Given the description of an element on the screen output the (x, y) to click on. 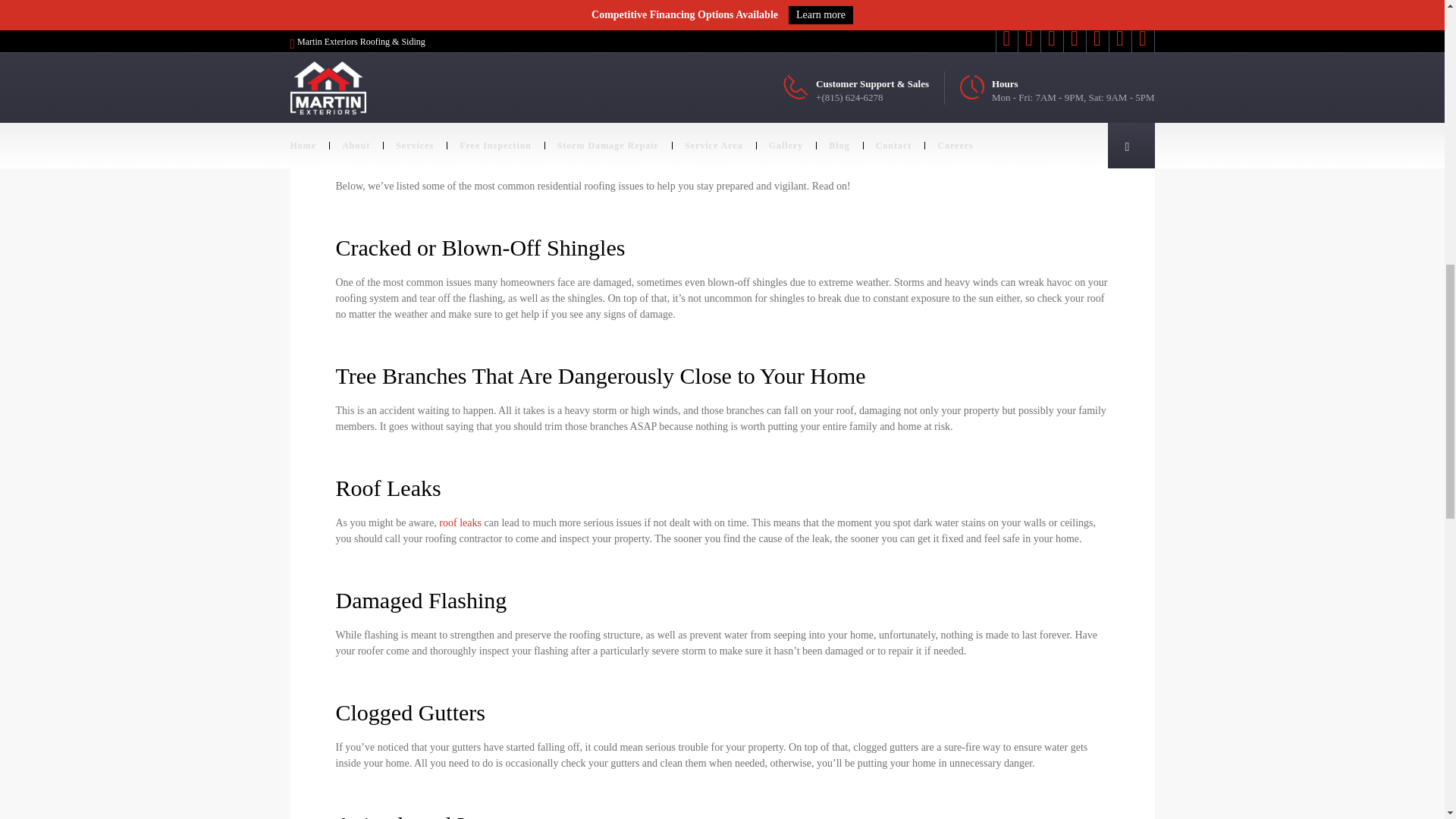
roof leaks (460, 522)
7 Most Frequent Residential Roofing Issues (616, 37)
7 Most Frequent Residential Roofing Issues (616, 37)
Posts by Justin (362, 1)
Residential Roofing (432, 1)
Justin (362, 1)
